Given the description of an element on the screen output the (x, y) to click on. 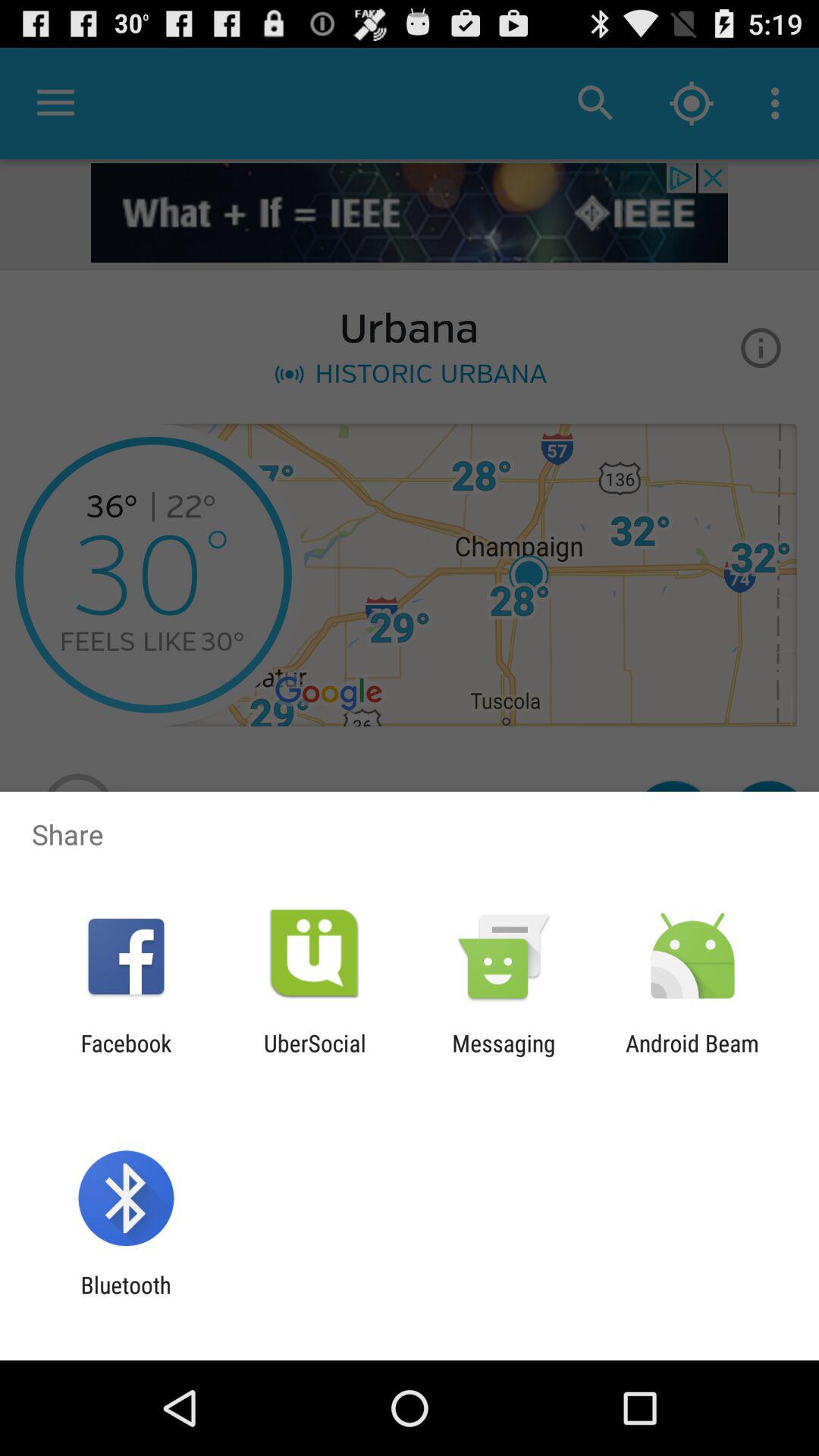
choose the android beam (692, 1056)
